Given the description of an element on the screen output the (x, y) to click on. 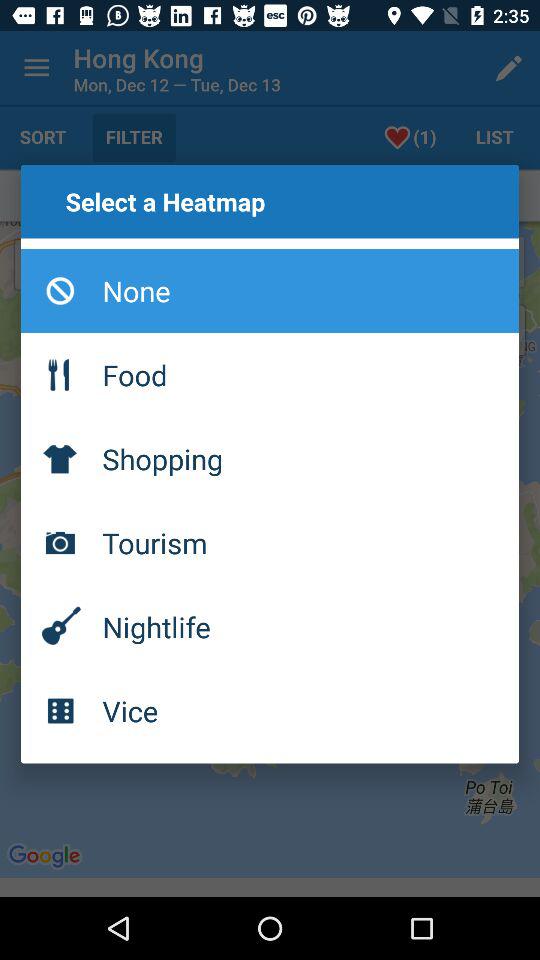
turn off nightlife icon (270, 626)
